Given the description of an element on the screen output the (x, y) to click on. 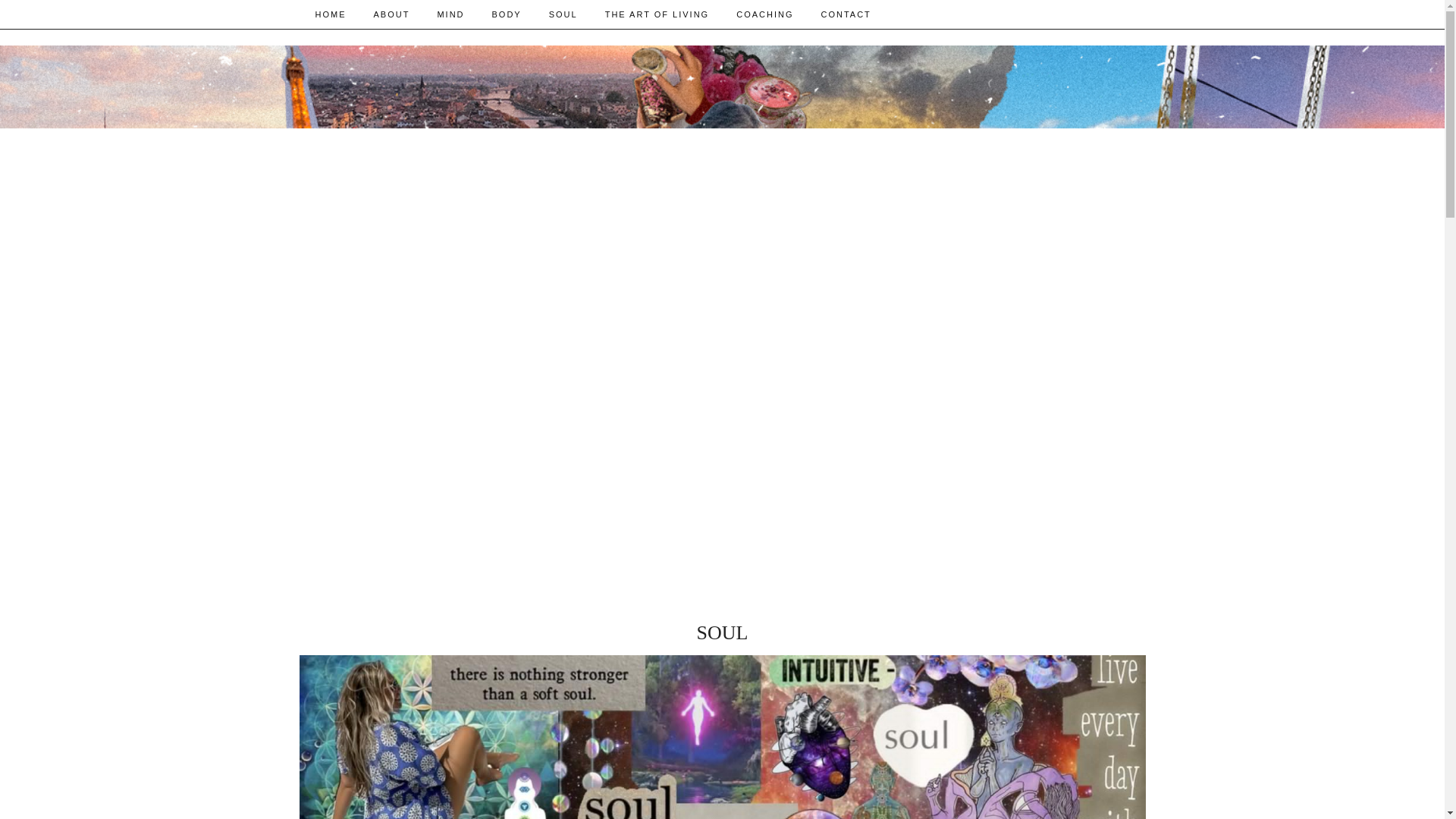
BODY (507, 14)
ABOUT (391, 14)
THE ART OF LIVING (657, 14)
MIND (450, 14)
HOME (330, 14)
SOUL (563, 14)
COACHING (764, 14)
CONTACT (844, 14)
